Given the description of an element on the screen output the (x, y) to click on. 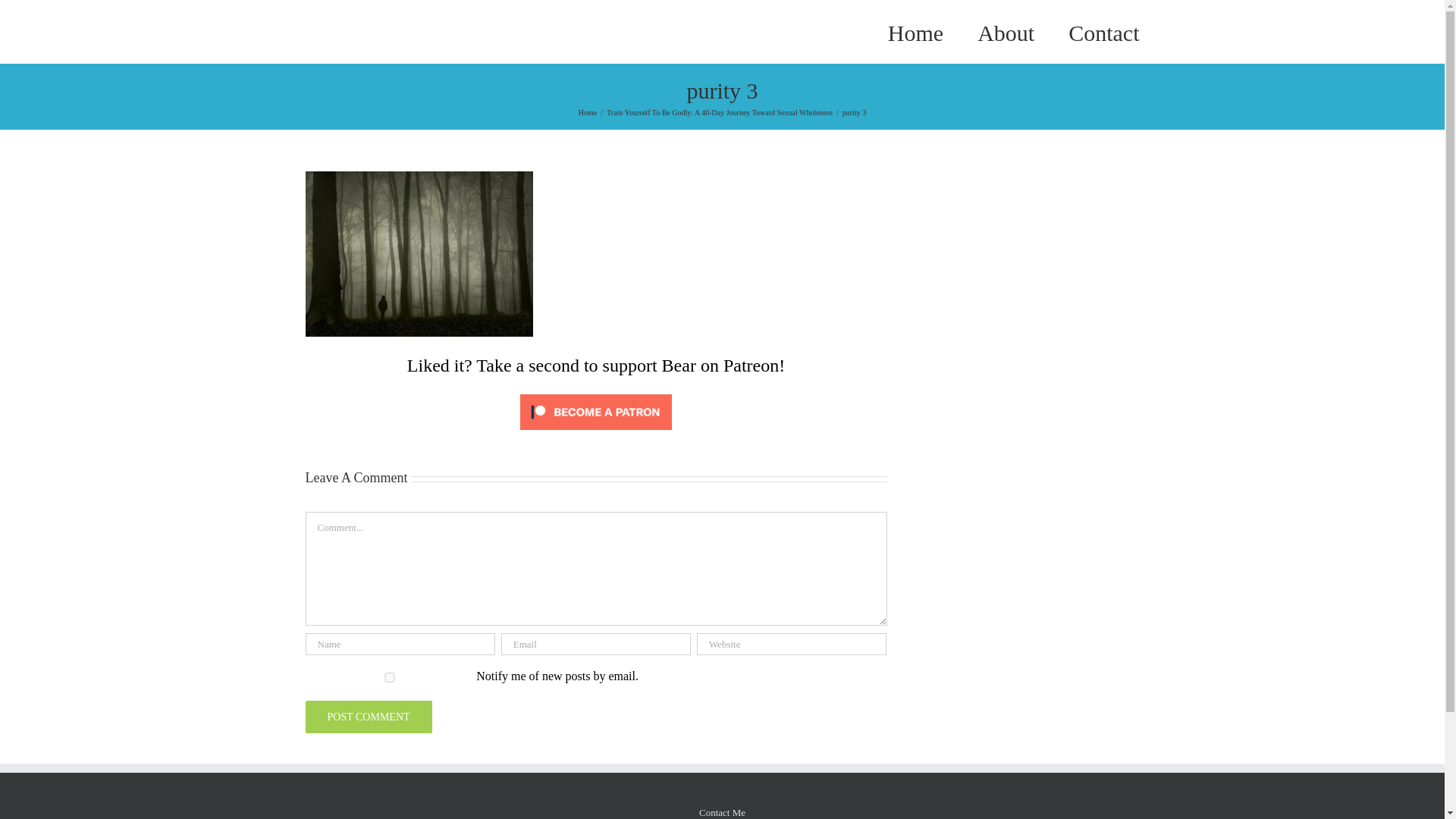
Contact (1103, 31)
Post Comment (367, 717)
About (1004, 31)
Post Comment (367, 717)
subscribe (388, 677)
Home (587, 112)
